Given the description of an element on the screen output the (x, y) to click on. 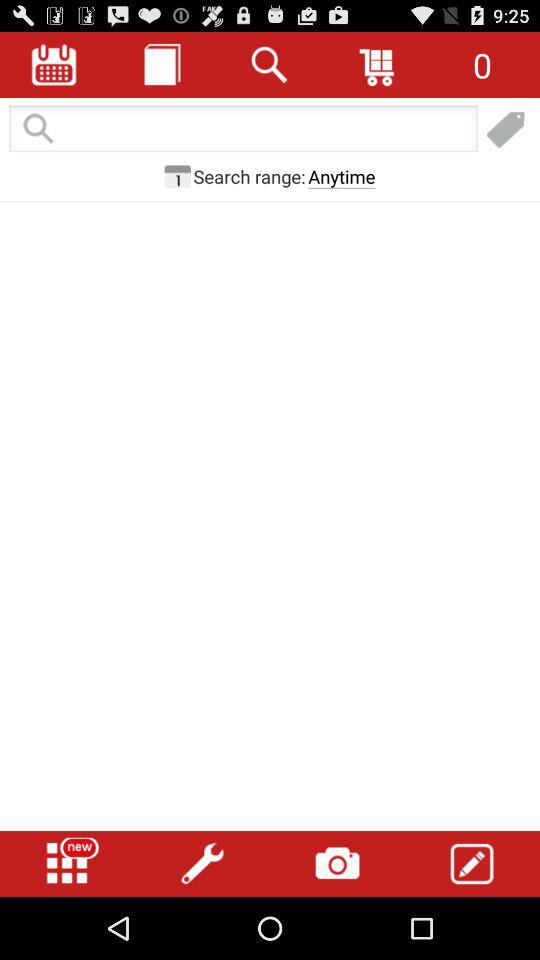
press the icon below 0 app (506, 130)
